Given the description of an element on the screen output the (x, y) to click on. 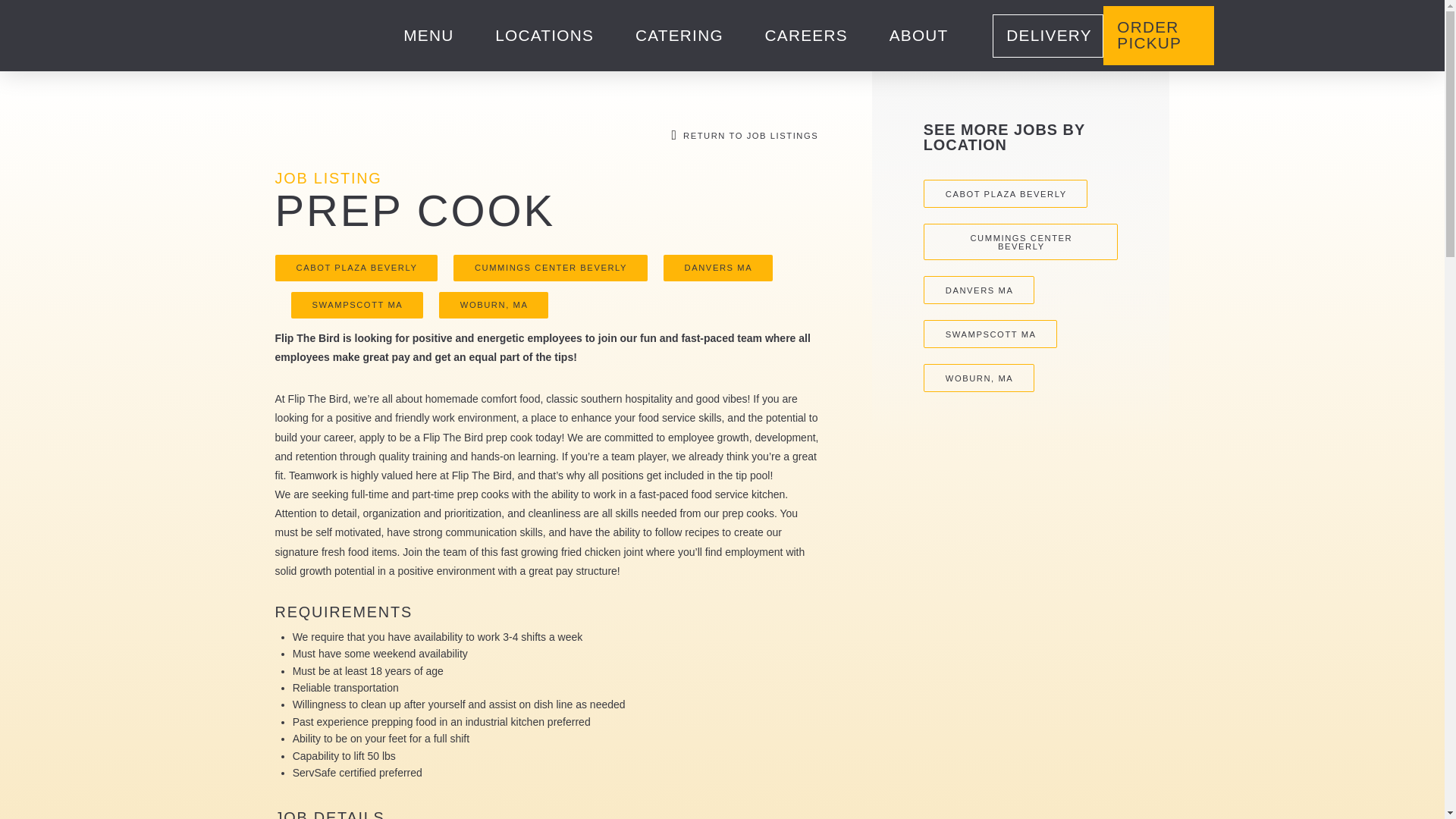
DANVERS MA (978, 289)
CABOT PLAZA BEVERLY (1005, 193)
WOBURN, MA (978, 377)
LOCATIONS (544, 35)
CUMMINGS CENTER BEVERLY (1020, 241)
MENU (427, 35)
CATERING (679, 35)
RETURN TO JOB LISTINGS (742, 134)
WOBURN, MA (493, 304)
CUMMINGS CENTER BEVERLY (549, 267)
